Given the description of an element on the screen output the (x, y) to click on. 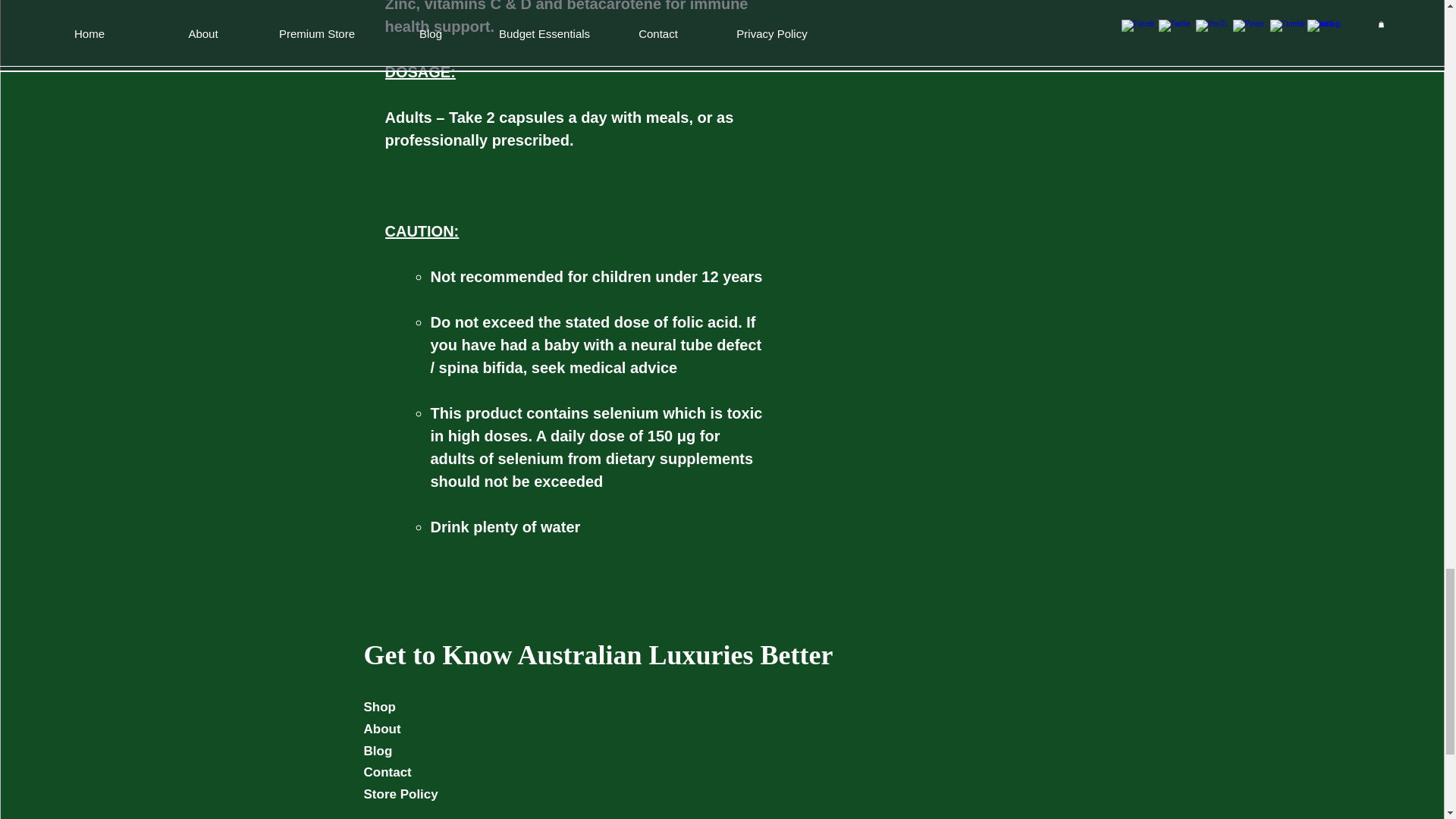
Store Policy (401, 794)
Shop (380, 707)
About (382, 728)
Contact (388, 771)
Blog (378, 750)
